Given the description of an element on the screen output the (x, y) to click on. 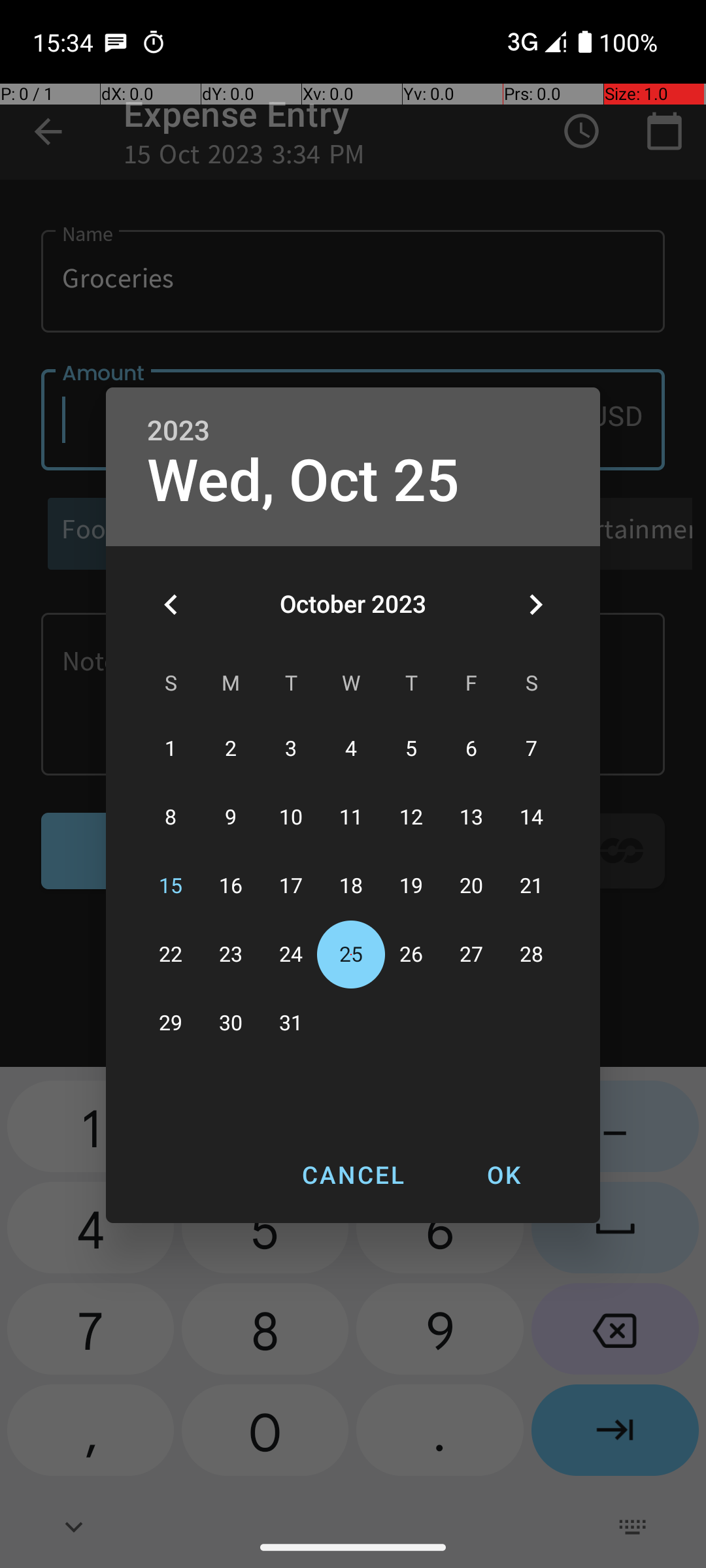
2023 Element type: android.widget.TextView (178, 430)
Wed, Oct 25 Element type: android.widget.TextView (303, 480)
Previous month Element type: android.widget.ImageButton (170, 604)
Next month Element type: android.widget.ImageButton (535, 604)
CANCEL Element type: android.widget.Button (352, 1174)
13 Element type: android.view.View (471, 817)
14 Element type: android.view.View (531, 817)
16 Element type: android.view.View (230, 885)
17 Element type: android.view.View (290, 885)
18 Element type: android.view.View (350, 885)
19 Element type: android.view.View (411, 885)
21 Element type: android.view.View (531, 885)
22 Element type: android.view.View (170, 954)
23 Element type: android.view.View (230, 954)
24 Element type: android.view.View (290, 954)
26 Element type: android.view.View (411, 954)
27 Element type: android.view.View (471, 954)
28 Element type: android.view.View (531, 954)
29 Element type: android.view.View (170, 1023)
31 Element type: android.view.View (290, 1023)
